Given the description of an element on the screen output the (x, y) to click on. 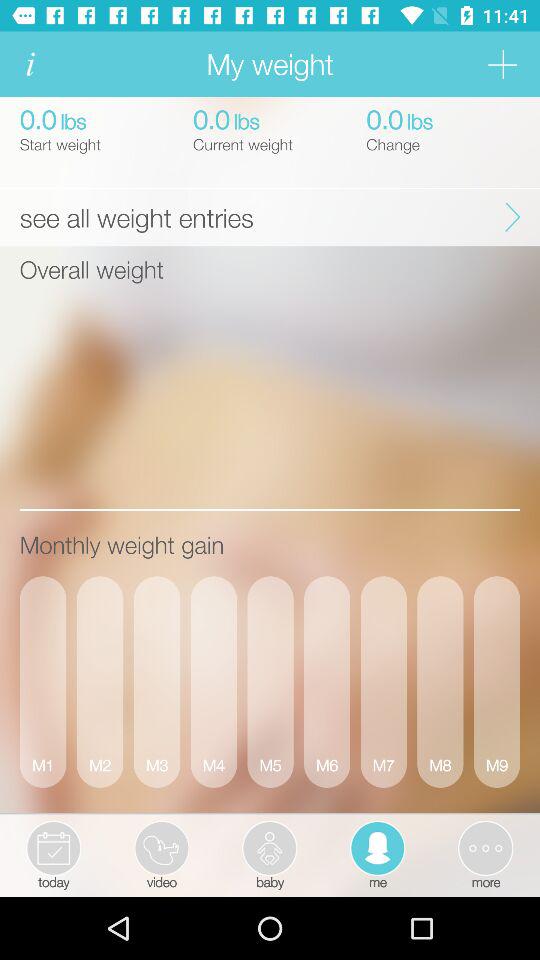
information option icon (30, 63)
